Given the description of an element on the screen output the (x, y) to click on. 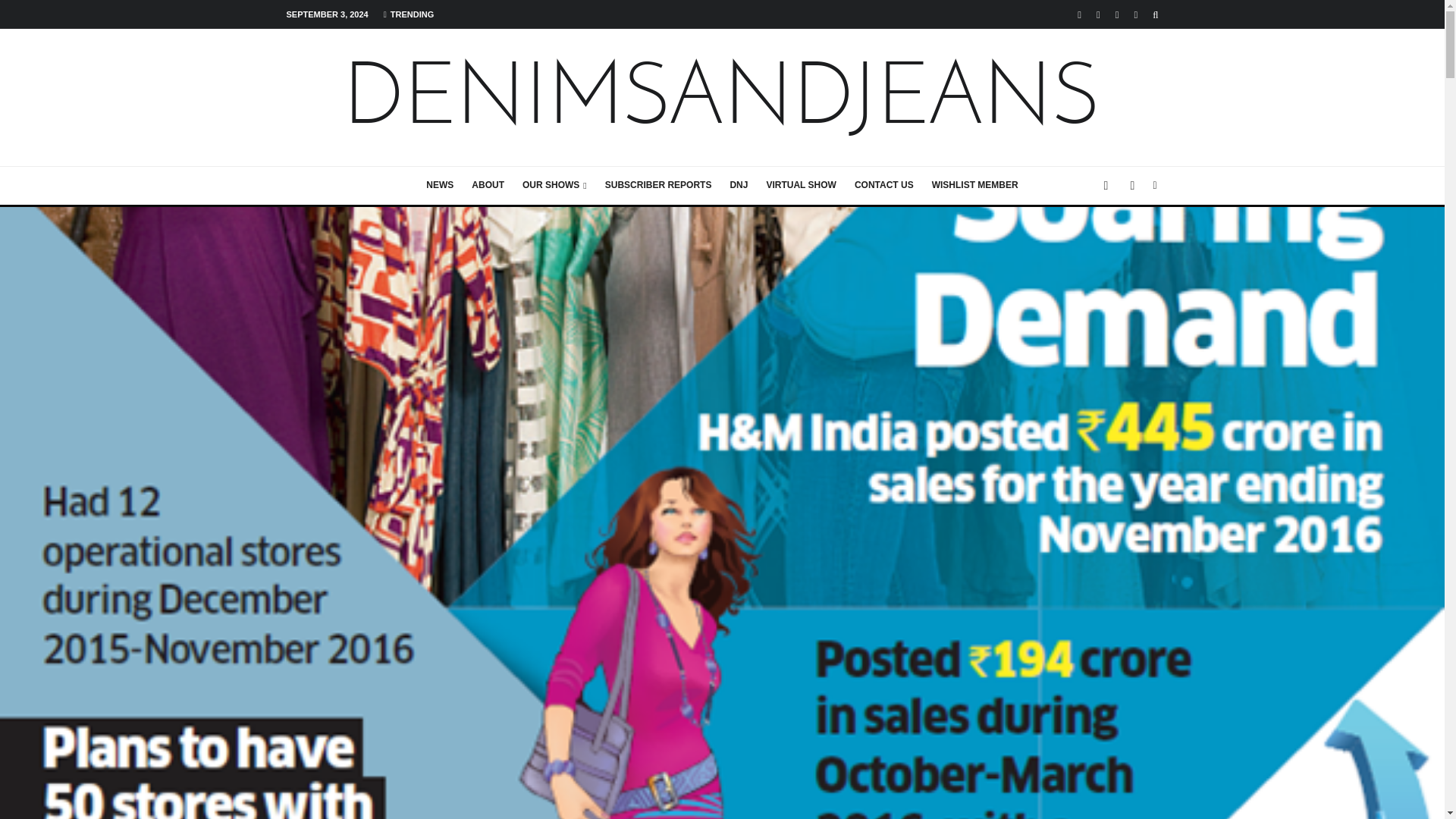
VIRTUAL SHOW (800, 185)
ABOUT (488, 185)
WISHLIST MEMBER (975, 185)
SUBSCRIBER REPORTS (657, 185)
TRENDING (408, 14)
DNJ (738, 185)
CONTACT US (884, 185)
OUR SHOWS (554, 185)
NEWS (439, 185)
